Given the description of an element on the screen output the (x, y) to click on. 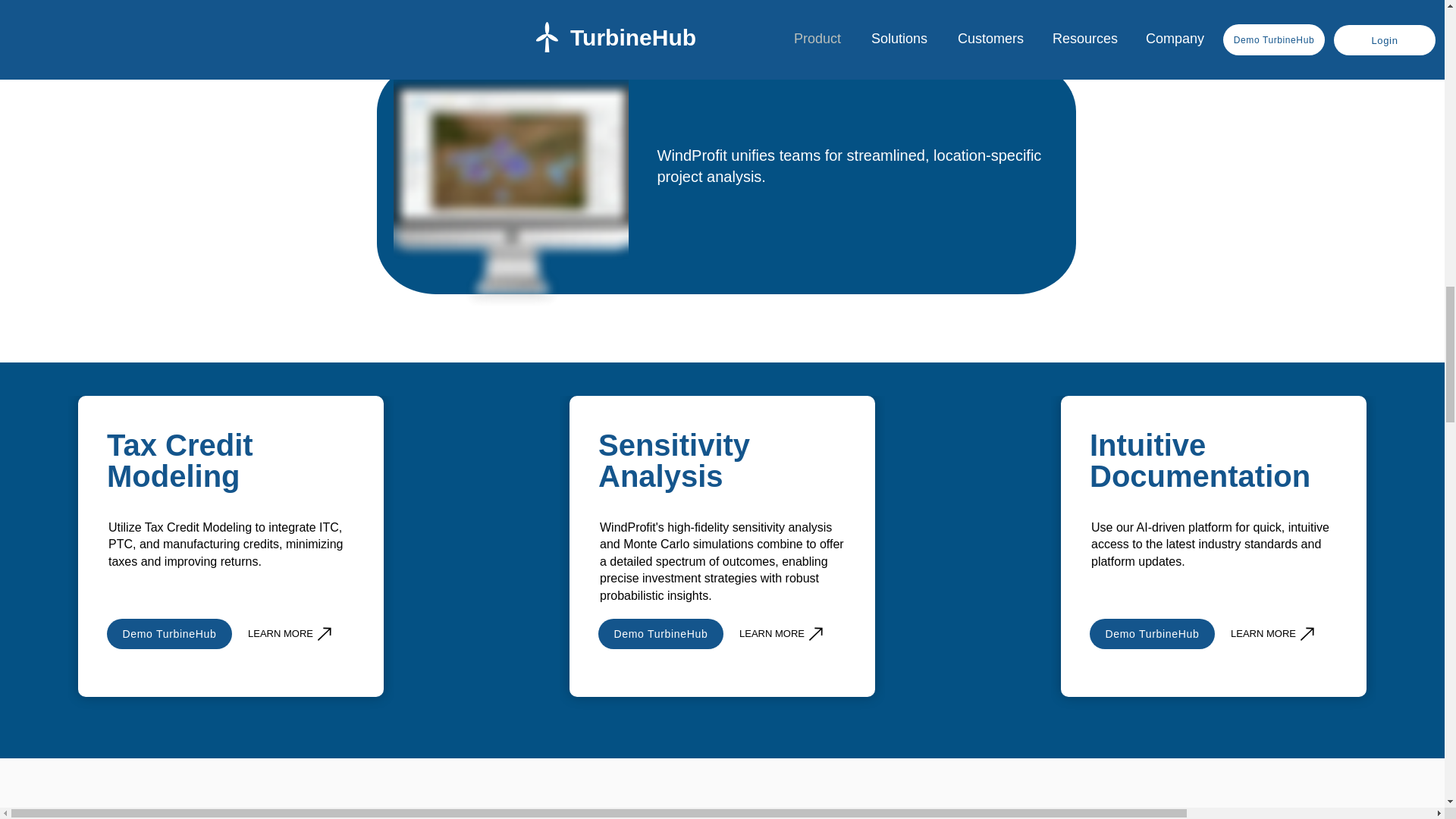
Demo TurbineHub (1151, 634)
LEARN MORE (782, 633)
LEARN MORE (1274, 633)
LEARN MORE (291, 633)
Demo TurbineHub (168, 634)
Demo TurbineHub (660, 634)
